Given the description of an element on the screen output the (x, y) to click on. 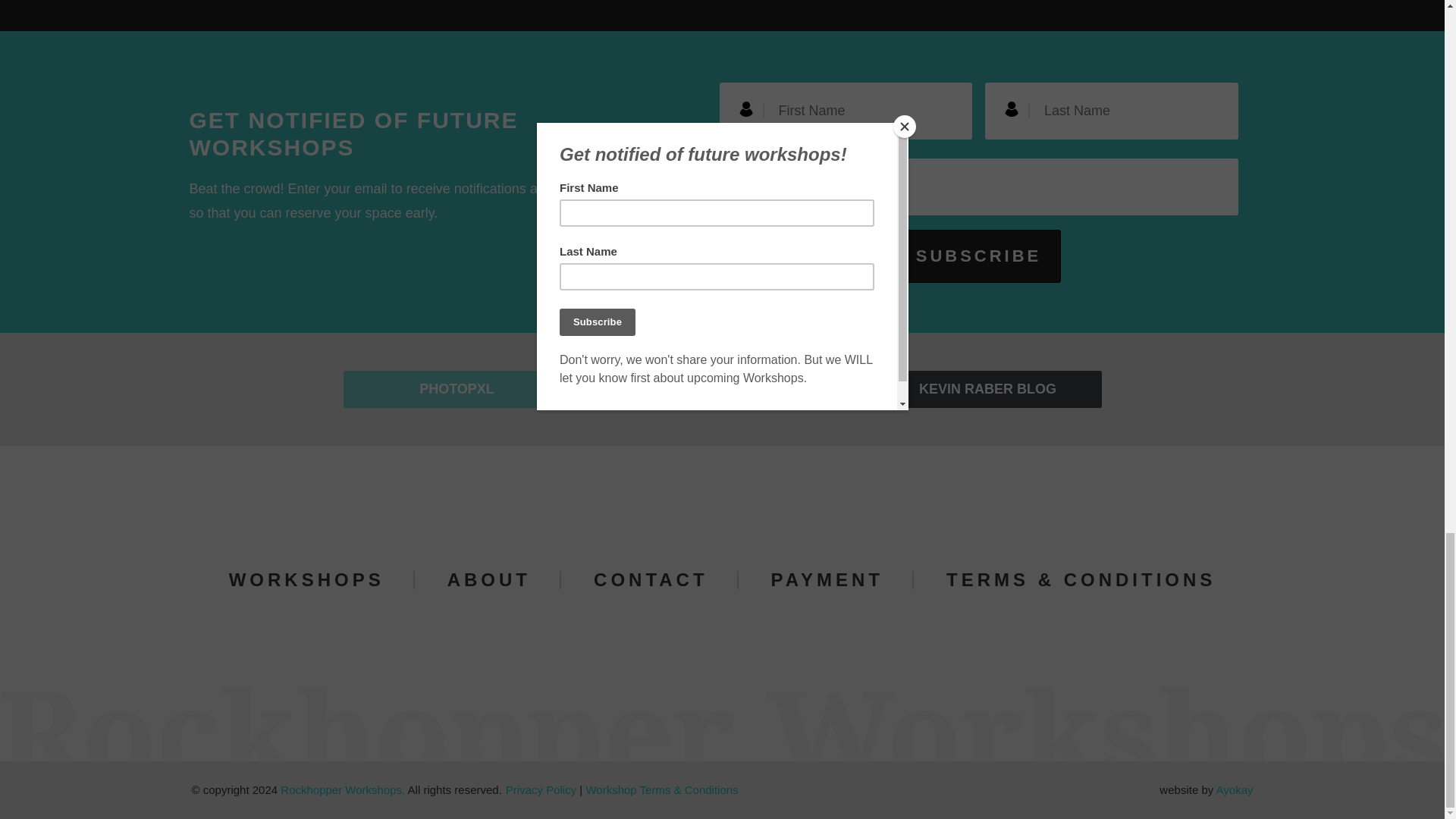
ABOUT (488, 579)
Subscribe (978, 256)
CONTACT (650, 579)
Privacy Policy (540, 789)
WORKSHOPS (306, 579)
Rockhopper Workshops. (342, 789)
PHOTOPXL (456, 389)
RABEREYES PRINT STORE (721, 389)
KEVIN RABER BLOG (986, 389)
Subscribe (978, 256)
PAYMENT (827, 579)
